Given the description of an element on the screen output the (x, y) to click on. 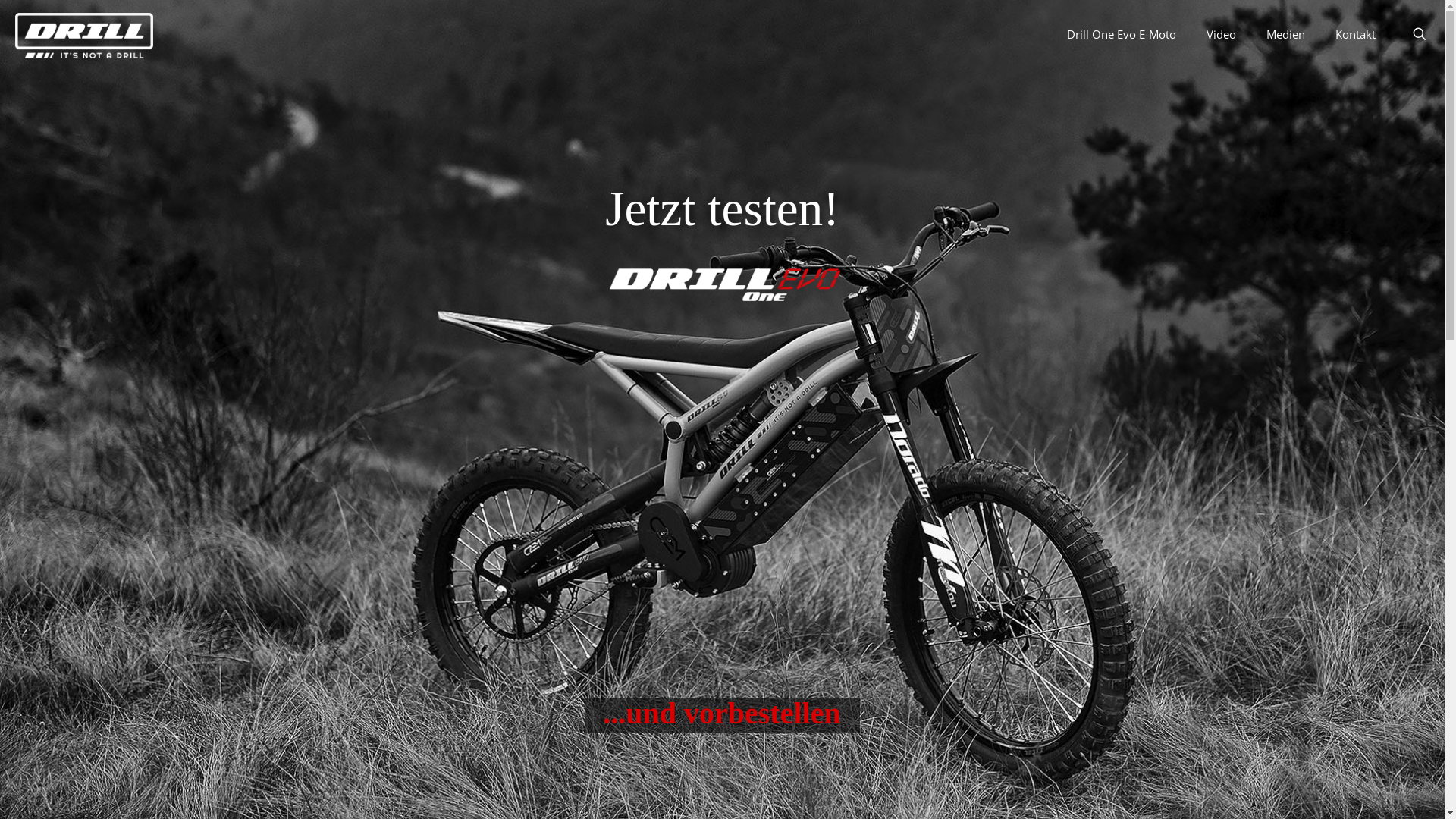
Kontakt Element type: text (1355, 34)
DRILL Electric Bikes Element type: hover (84, 34)
Medien Element type: text (1285, 34)
Jetzt testen! Element type: text (722, 208)
Video Element type: text (1221, 34)
Drill One Evo E-Moto Element type: text (1121, 34)
...und vorbestellen Element type: text (721, 715)
